Given the description of an element on the screen output the (x, y) to click on. 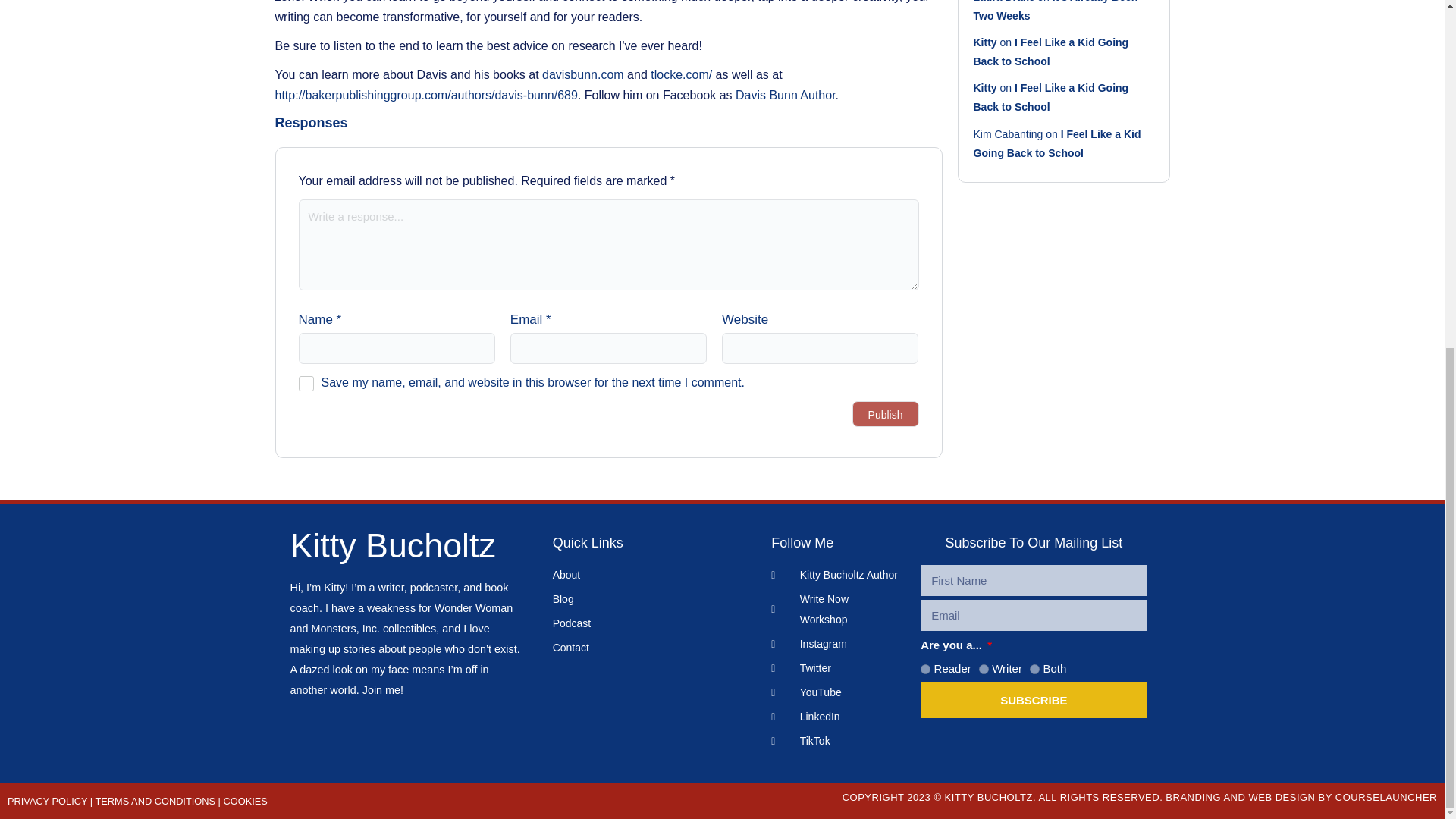
davisbunn.com (582, 74)
I Feel Like a Kid Going Back to School (1057, 142)
writer (983, 669)
Davis Bunn Author (785, 94)
Kitty (985, 42)
Publish (884, 413)
Laura Drake (1004, 1)
I Feel Like a Kid Going Back to School (1051, 51)
both (1034, 669)
Publish (884, 413)
reader (925, 669)
I Feel Like a Kid Going Back to School (1051, 97)
Kitty (985, 87)
